Given the description of an element on the screen output the (x, y) to click on. 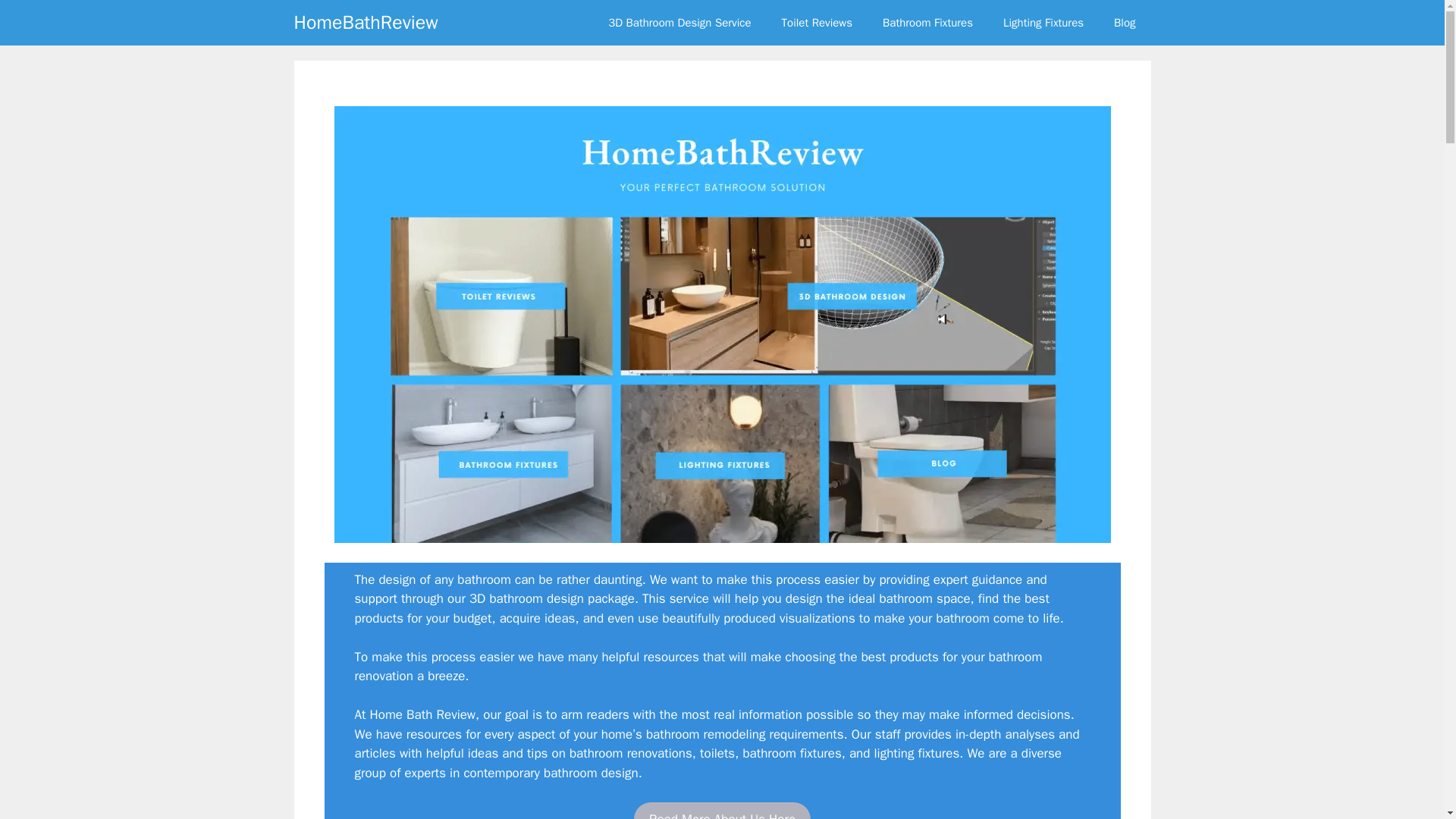
Bathroom Fixtures (927, 22)
Blog (1124, 22)
Read More About Us Here (721, 810)
HomeBathReview (366, 22)
3D Bathroom Design Service (678, 22)
Toilet Reviews (817, 22)
Lighting Fixtures (1043, 22)
